Given the description of an element on the screen output the (x, y) to click on. 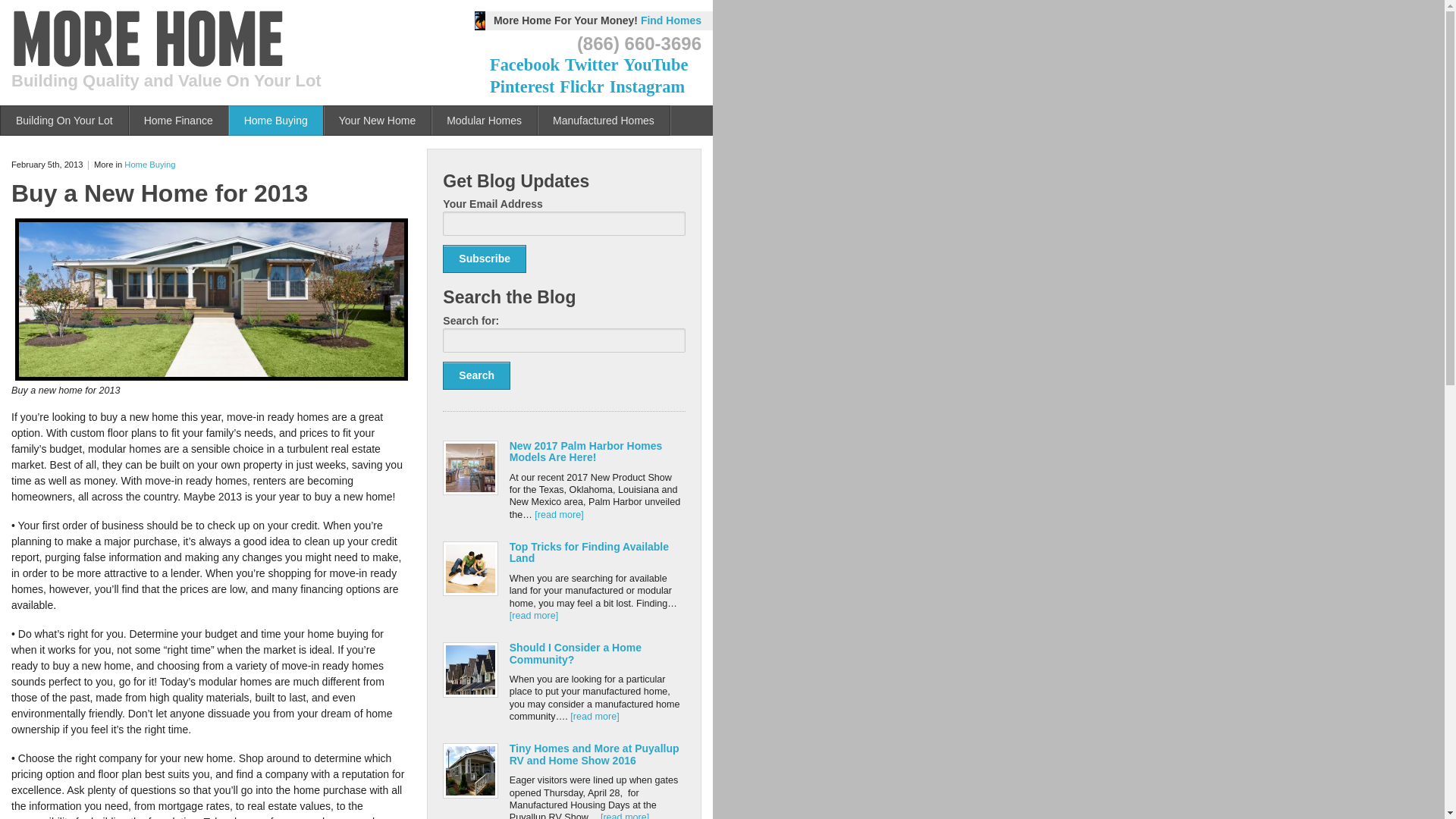
Permanent Link to Should I Consider a Home Community? (575, 653)
Pinterest (522, 86)
YouTube (656, 64)
New 2017 Palm Harbor Homes Models Are Here! (585, 451)
Modular Homes (483, 120)
YouTube (656, 64)
Home Buying (148, 163)
Search (476, 375)
Instagram (648, 86)
